Given the description of an element on the screen output the (x, y) to click on. 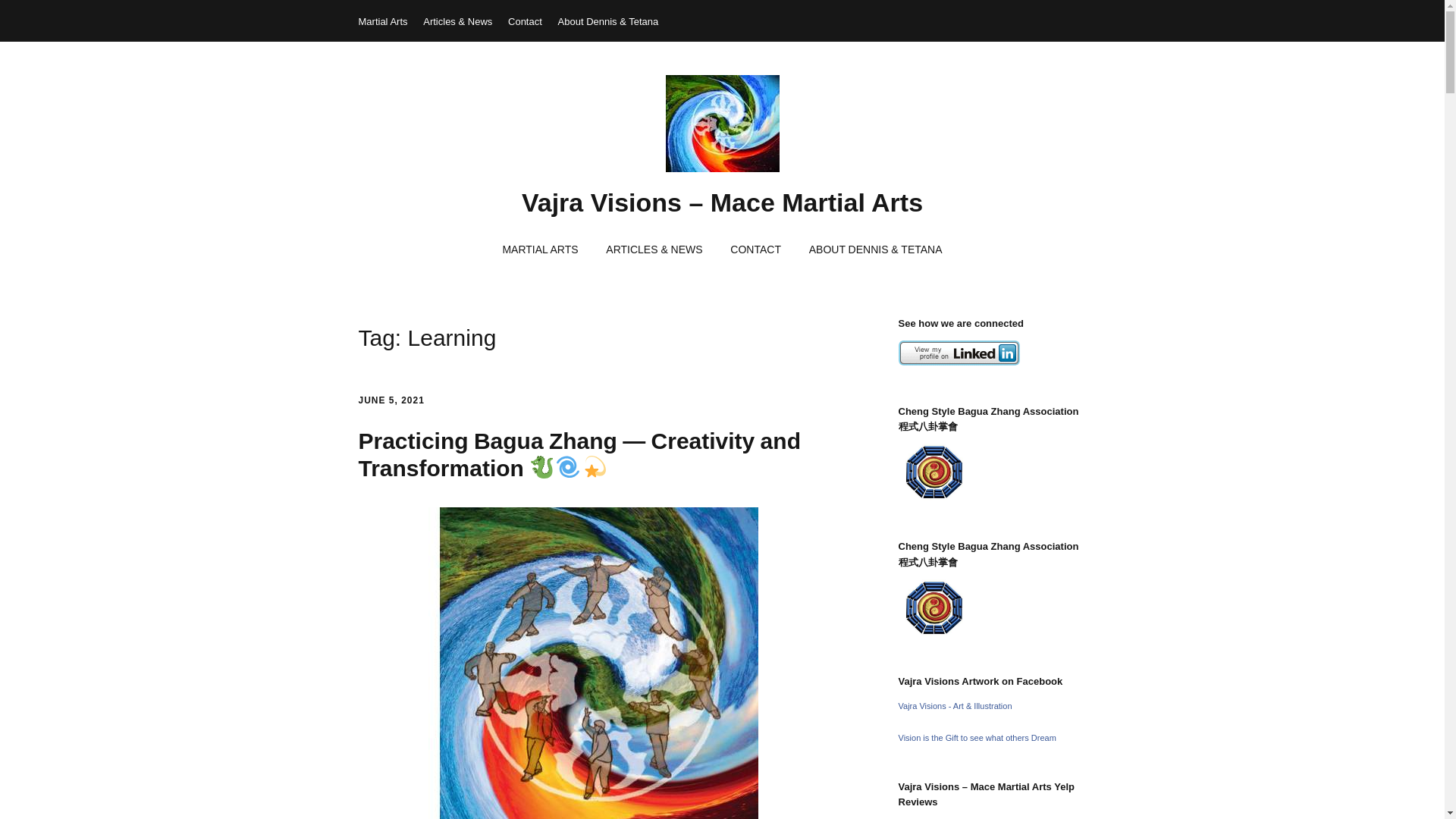
Contact (524, 21)
MARTIAL ARTS (539, 250)
JUNE 5, 2021 (390, 399)
Make your own badge! (977, 737)
Martial Arts (382, 21)
CONTACT (755, 250)
